Given the description of an element on the screen output the (x, y) to click on. 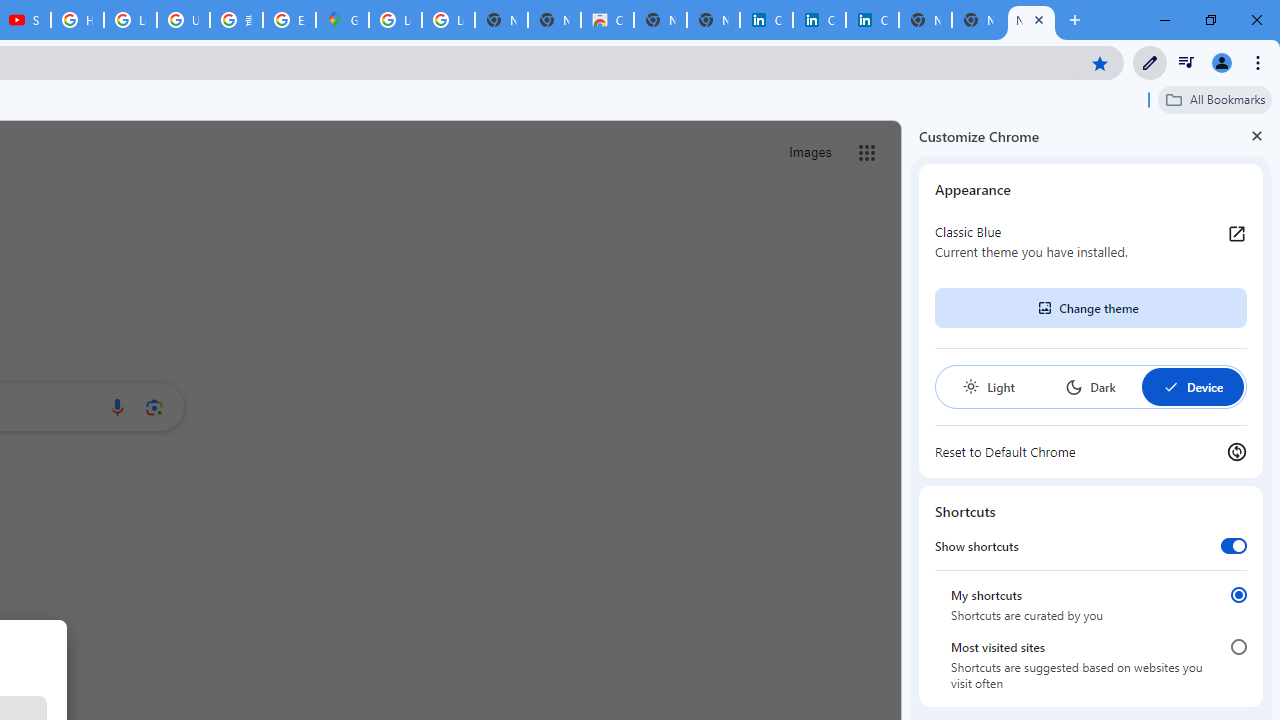
Chrome Web Store (607, 20)
Device (1192, 386)
